Given the description of an element on the screen output the (x, y) to click on. 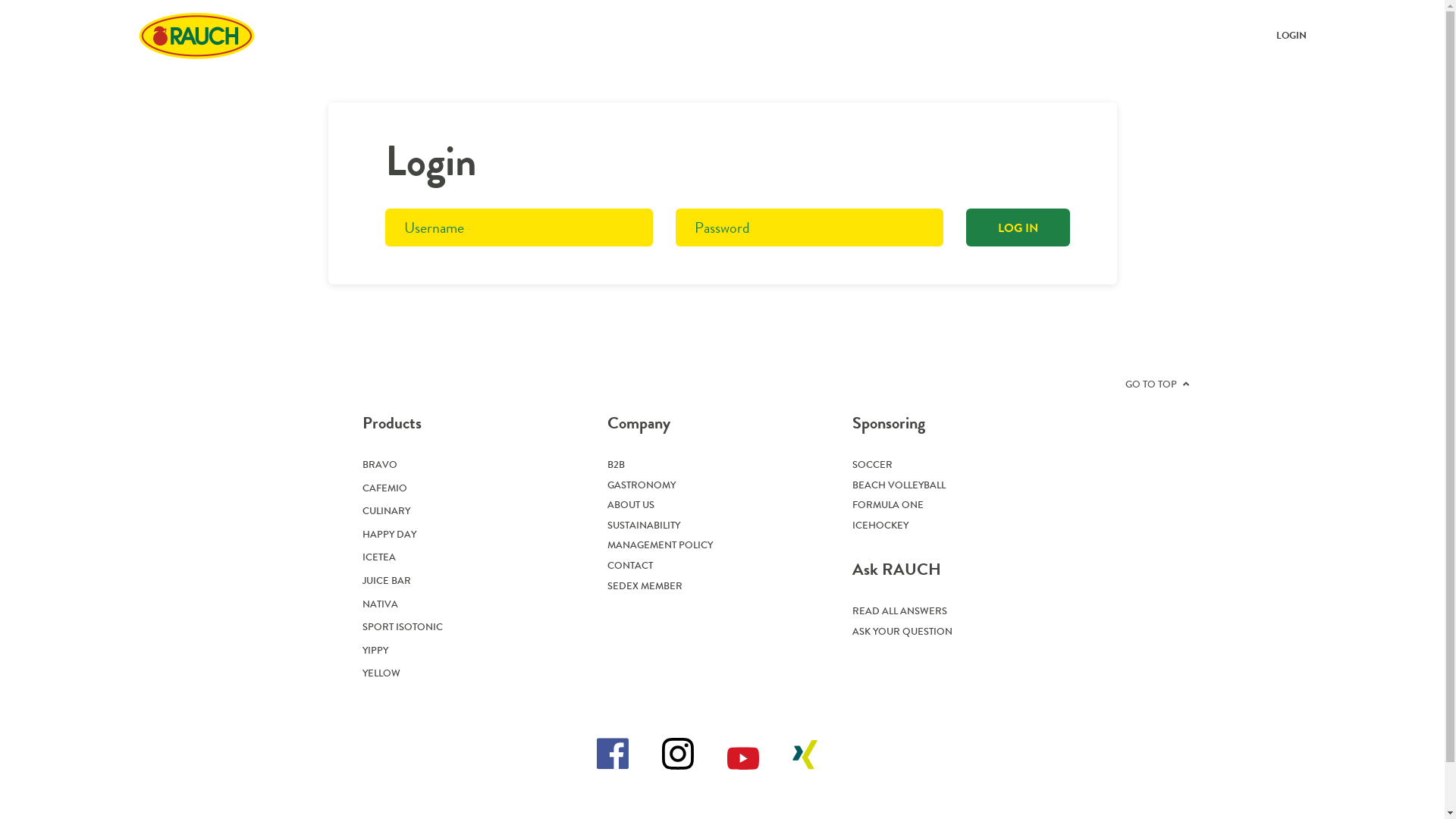
B2B Element type: text (615, 464)
CULINARY Element type: text (386, 510)
Rauch Website Element type: hover (196, 35)
BRAVO Element type: text (379, 464)
RAUCH on Facebook Element type: hover (612, 753)
SOCCER Element type: text (872, 464)
ASK YOUR QUESTION Element type: text (902, 631)
LOGIN Element type: text (1290, 35)
ABOUT US Element type: text (630, 504)
SPORT ISOTONIC Element type: text (402, 626)
BEACH VOLLEYBALL Element type: text (898, 484)
RAUCH on Youtube Element type: hover (743, 757)
SUSTAINABILITY Element type: text (643, 524)
READ ALL ANSWERS Element type: text (899, 610)
CONTACT Element type: text (629, 565)
MANAGEMENT POLICY Element type: text (659, 544)
YIPPY Element type: text (375, 650)
HAPPY DAY Element type: text (389, 534)
YELLOW Element type: text (381, 672)
ICETEA Element type: text (378, 556)
LOG IN Element type: text (1018, 227)
FORMULA ONE Element type: text (887, 504)
CAFEMIO Element type: text (384, 487)
JUICE BAR Element type: text (386, 580)
GASTRONOMY Element type: text (641, 484)
ICEHOCKEY Element type: text (880, 524)
RAUCH on Xing Element type: hover (804, 754)
RAUCH on Instagram Element type: hover (677, 753)
NATIVA Element type: text (380, 603)
SEDEX MEMBER Element type: text (644, 585)
